Given the description of an element on the screen output the (x, y) to click on. 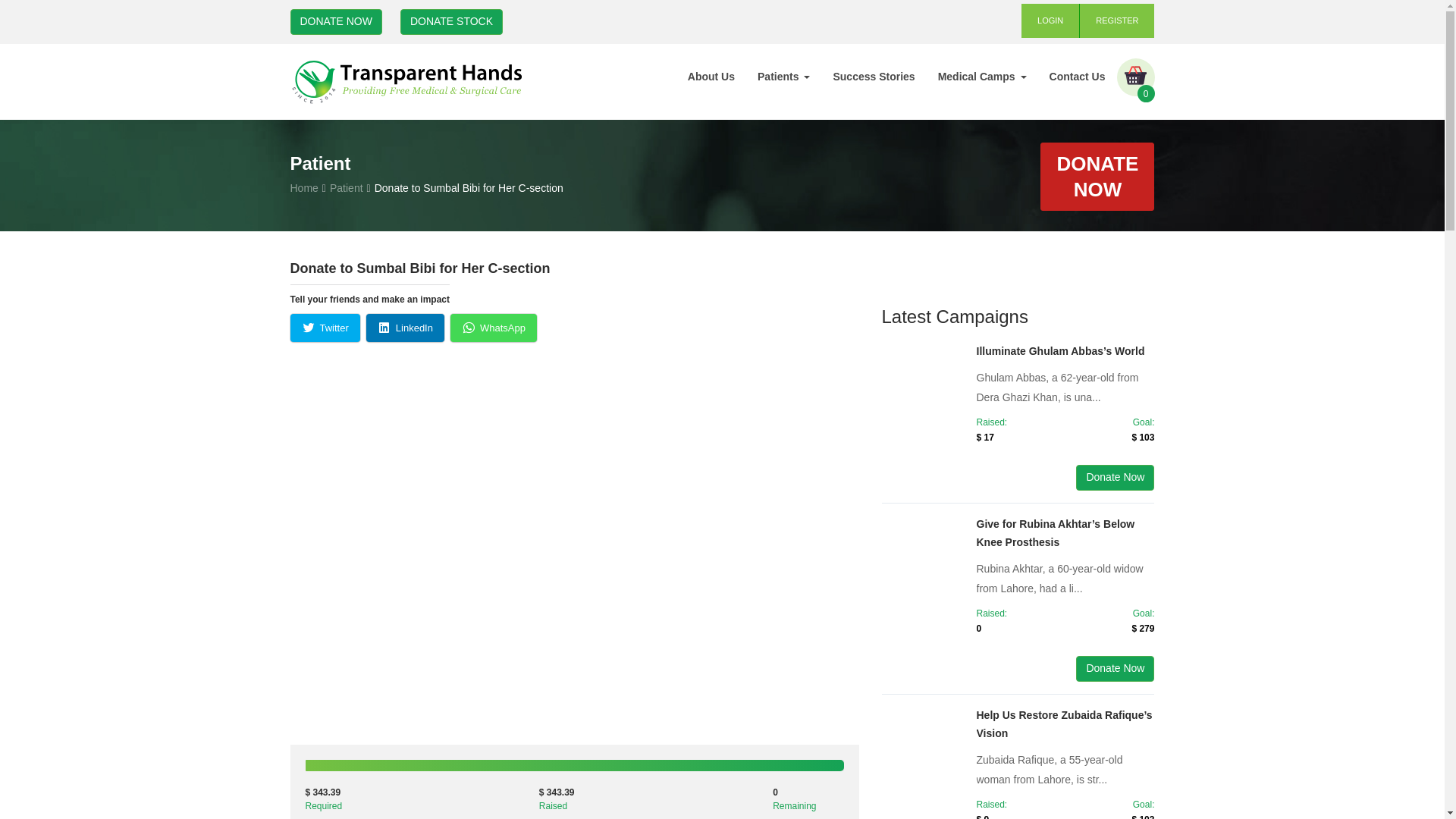
Twitter (324, 327)
REGISTER (1117, 20)
Success Stories (873, 76)
Click to share on LinkedIn (405, 327)
Patient (346, 187)
DONATE NOW (335, 22)
About Us (711, 76)
DONATE STOCK (451, 22)
Click to share on Twitter (324, 327)
WhatsApp (493, 327)
Patients (783, 76)
Click to share on WhatsApp (493, 327)
LinkedIn (405, 327)
DONATE NOW (1097, 176)
Medical Camps (982, 76)
